Given the description of an element on the screen output the (x, y) to click on. 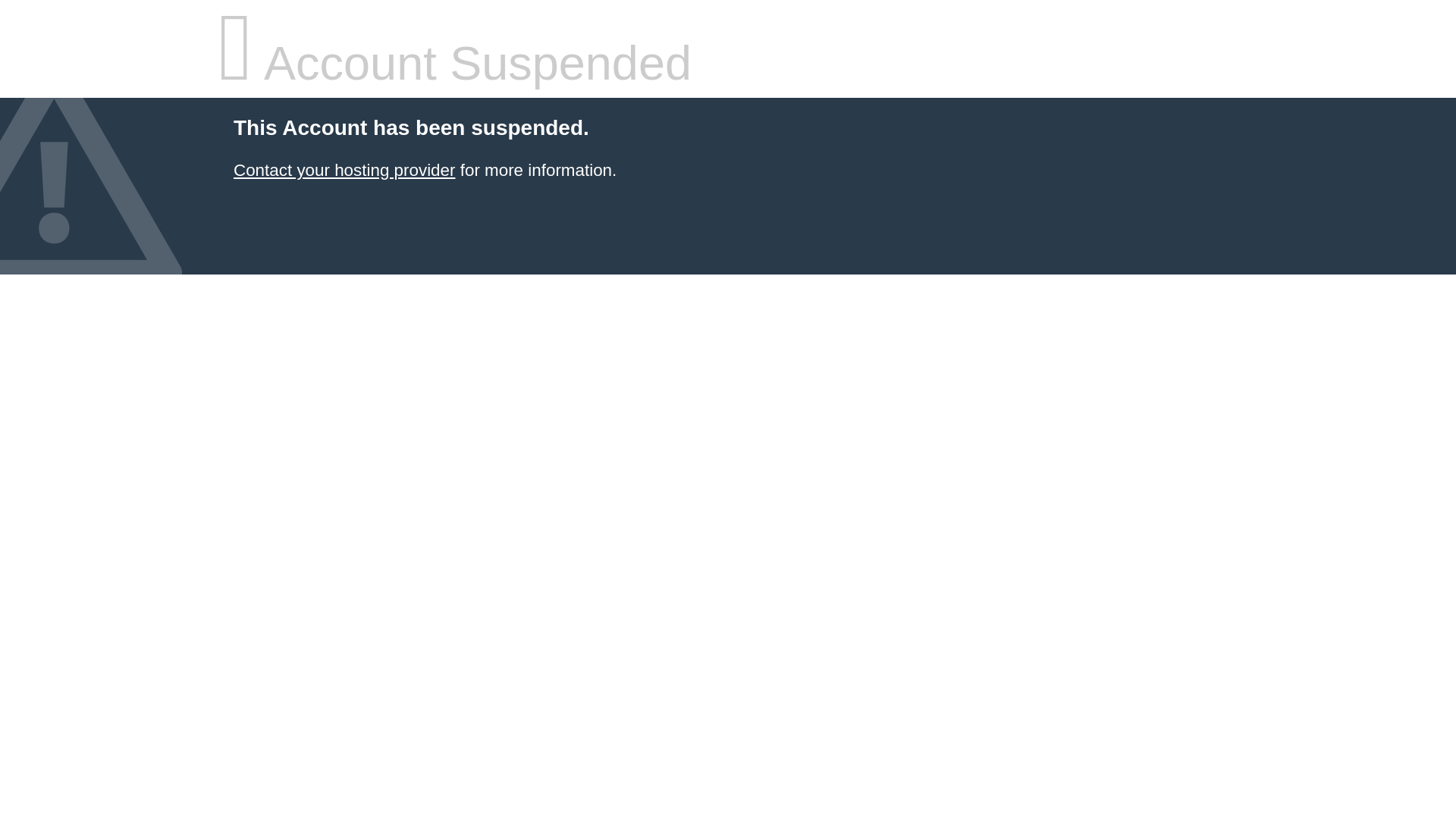
Contact your hosting provider (343, 169)
